Given the description of an element on the screen output the (x, y) to click on. 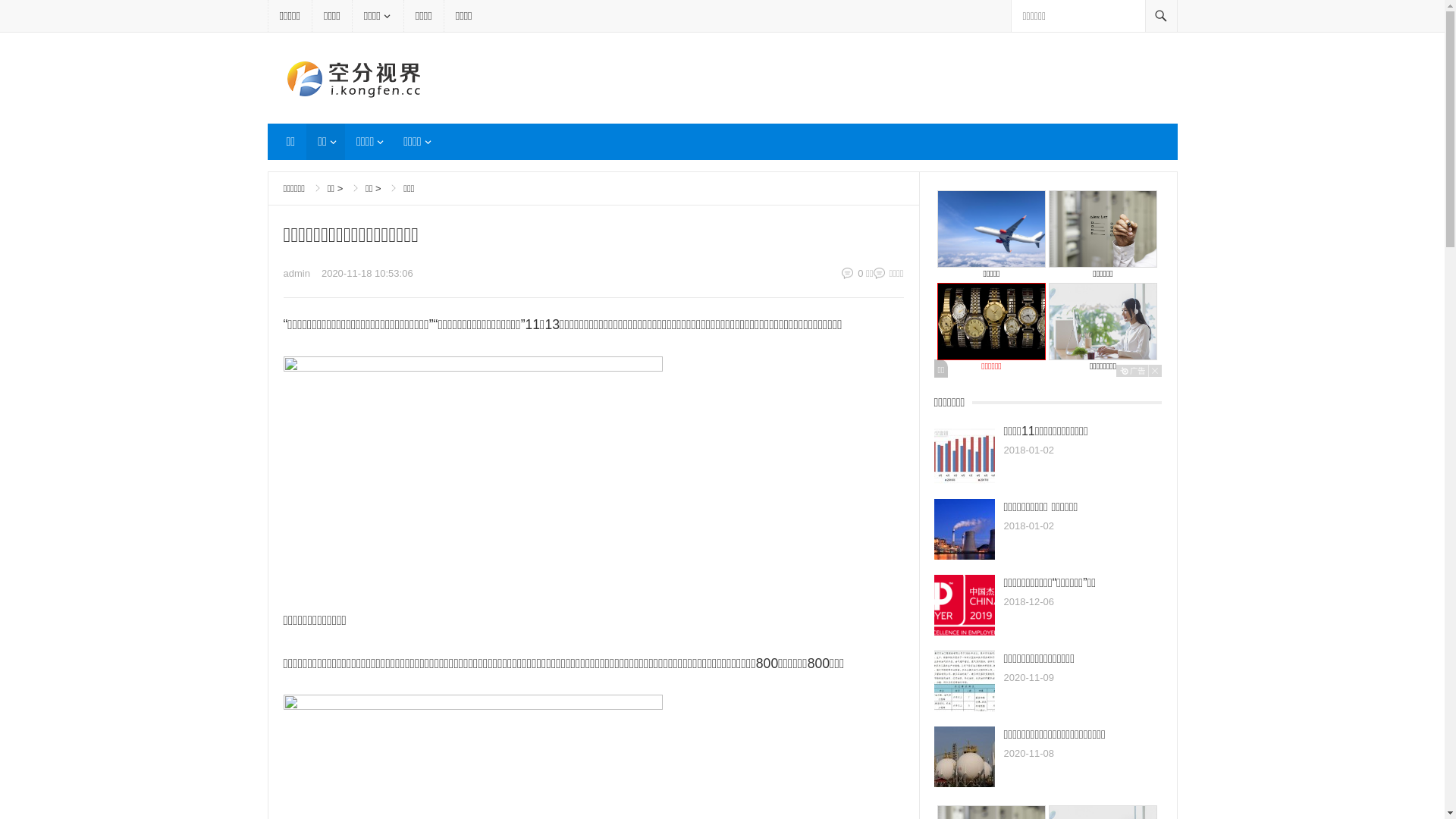
admin Element type: text (296, 273)
